Given the description of an element on the screen output the (x, y) to click on. 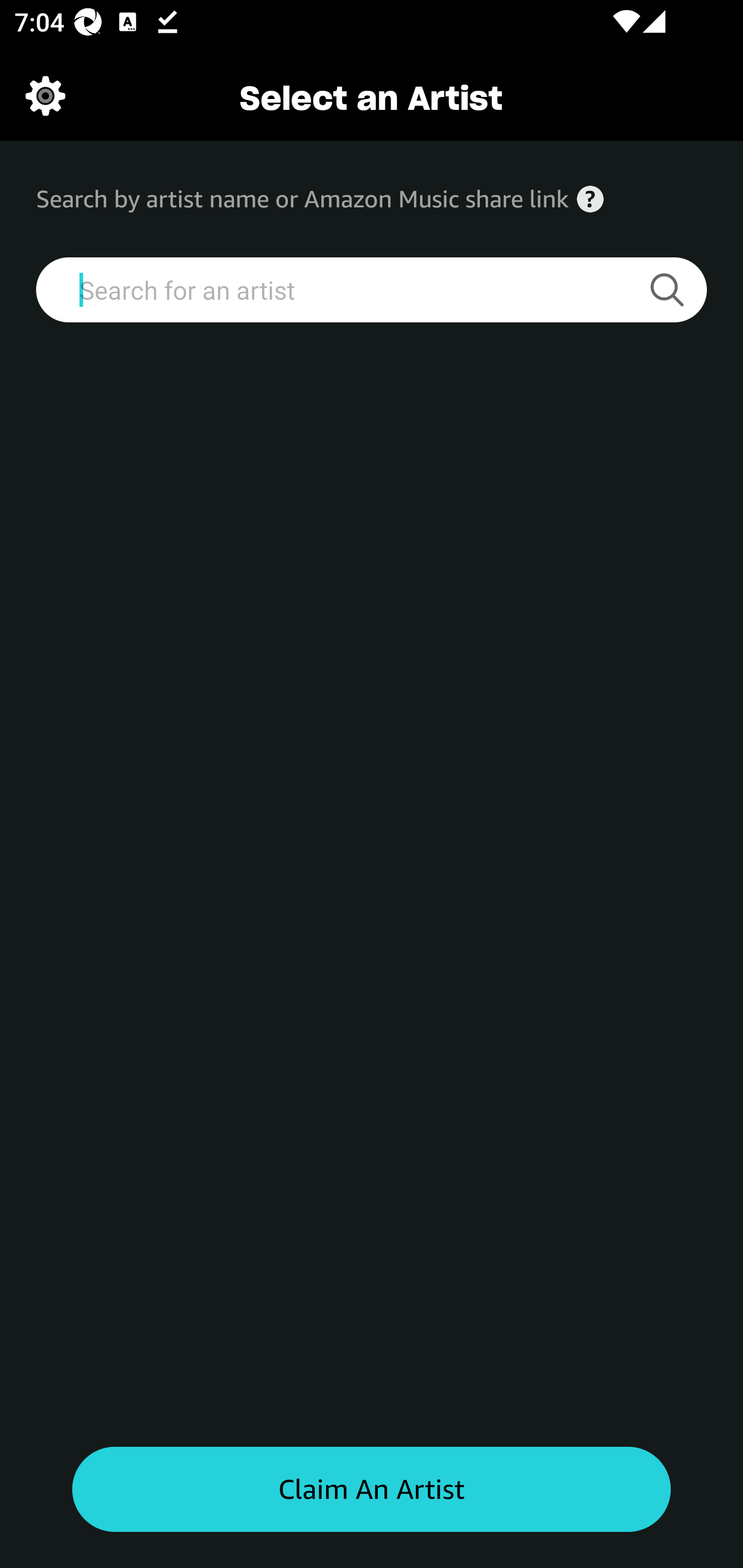
Help  icon (589, 199)
Claim an artist button Claim An Artist (371, 1489)
